Given the description of an element on the screen output the (x, y) to click on. 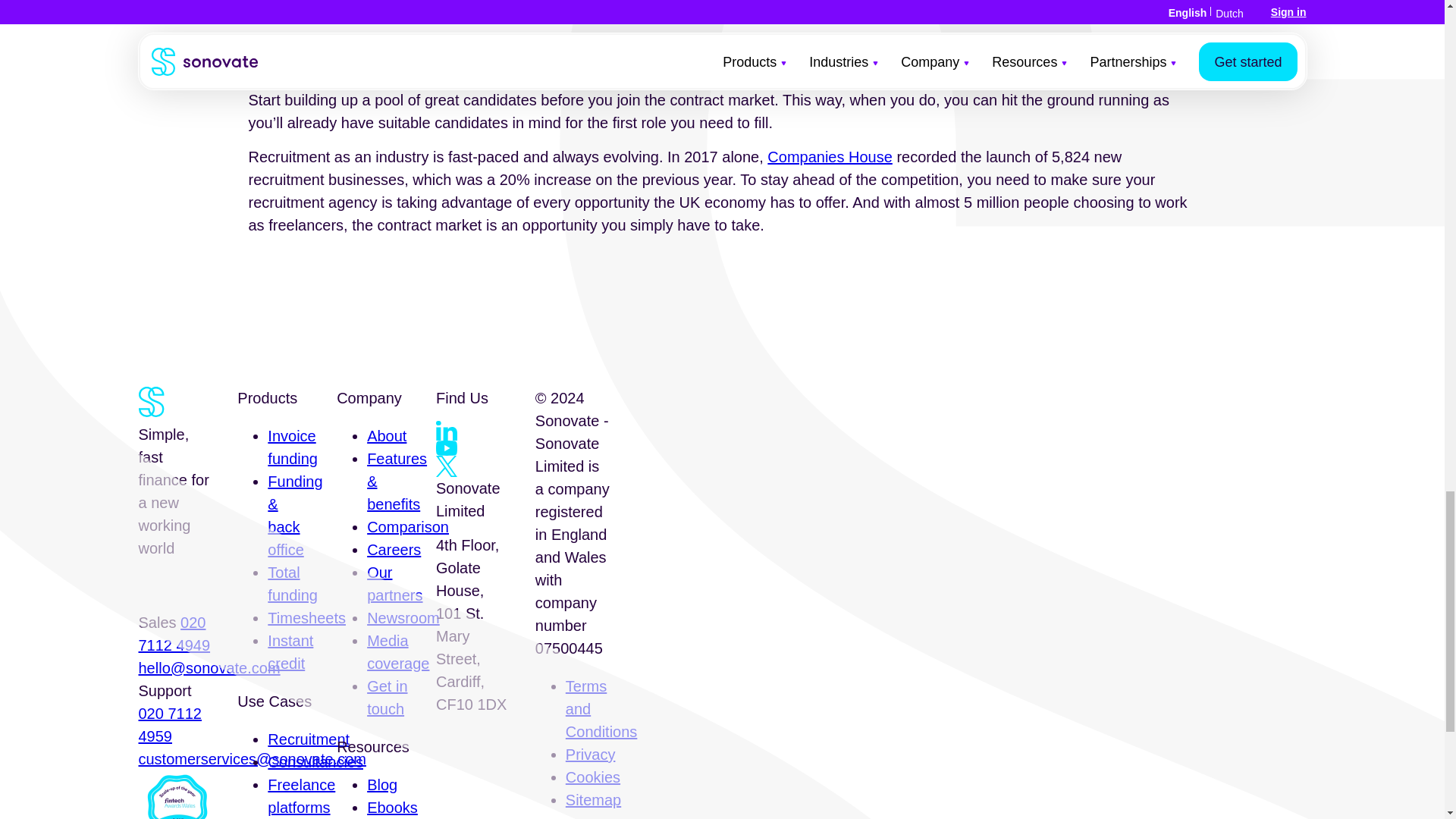
social-link (446, 465)
award badge (176, 794)
social-link (446, 430)
social-link (446, 447)
